Given the description of an element on the screen output the (x, y) to click on. 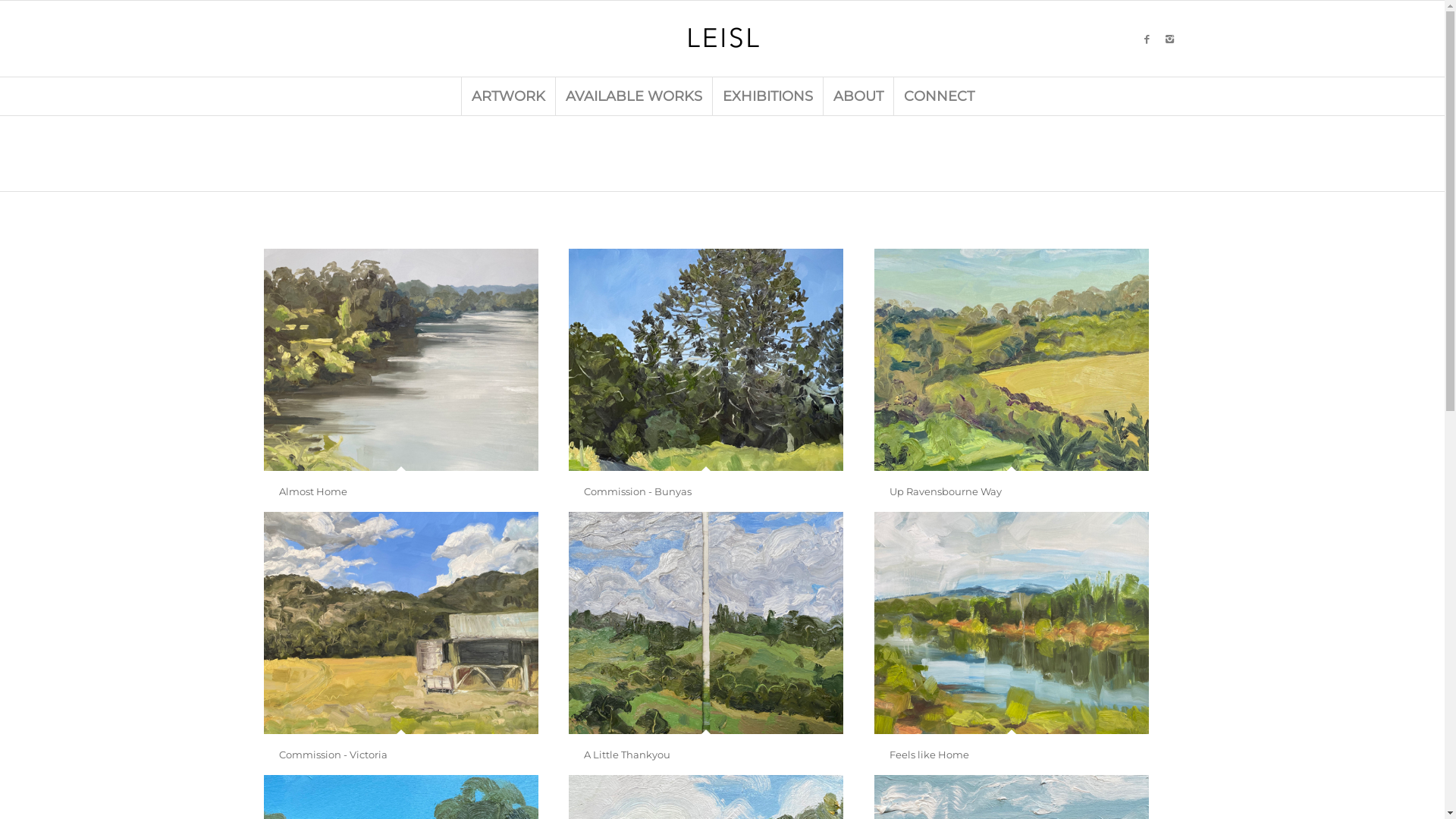
Up Ravensbourne Way Element type: text (944, 491)
Almost Home Element type: text (313, 491)
Commission - Bunyas Element type: text (637, 491)
Commission - Bunyas Element type: hover (706, 359)
Instagram Element type: hover (1169, 38)
EXHIBITIONS Element type: text (766, 96)
Up Ravensbourne Way Element type: hover (1010, 359)
Feels like Home Element type: text (928, 754)
ARTWORK Element type: text (508, 96)
Commission - Victoria Element type: hover (401, 622)
Commission - Victoria Element type: text (333, 754)
A Little Thankyou Element type: hover (706, 622)
A Little Thankyou Element type: text (626, 754)
CONNECT Element type: text (938, 96)
Feels like Home Element type: hover (1010, 622)
ABOUT Element type: text (857, 96)
Almost Home Element type: hover (401, 359)
AVAILABLE WORKS Element type: text (633, 96)
Facebook Element type: hover (1146, 38)
